Given the description of an element on the screen output the (x, y) to click on. 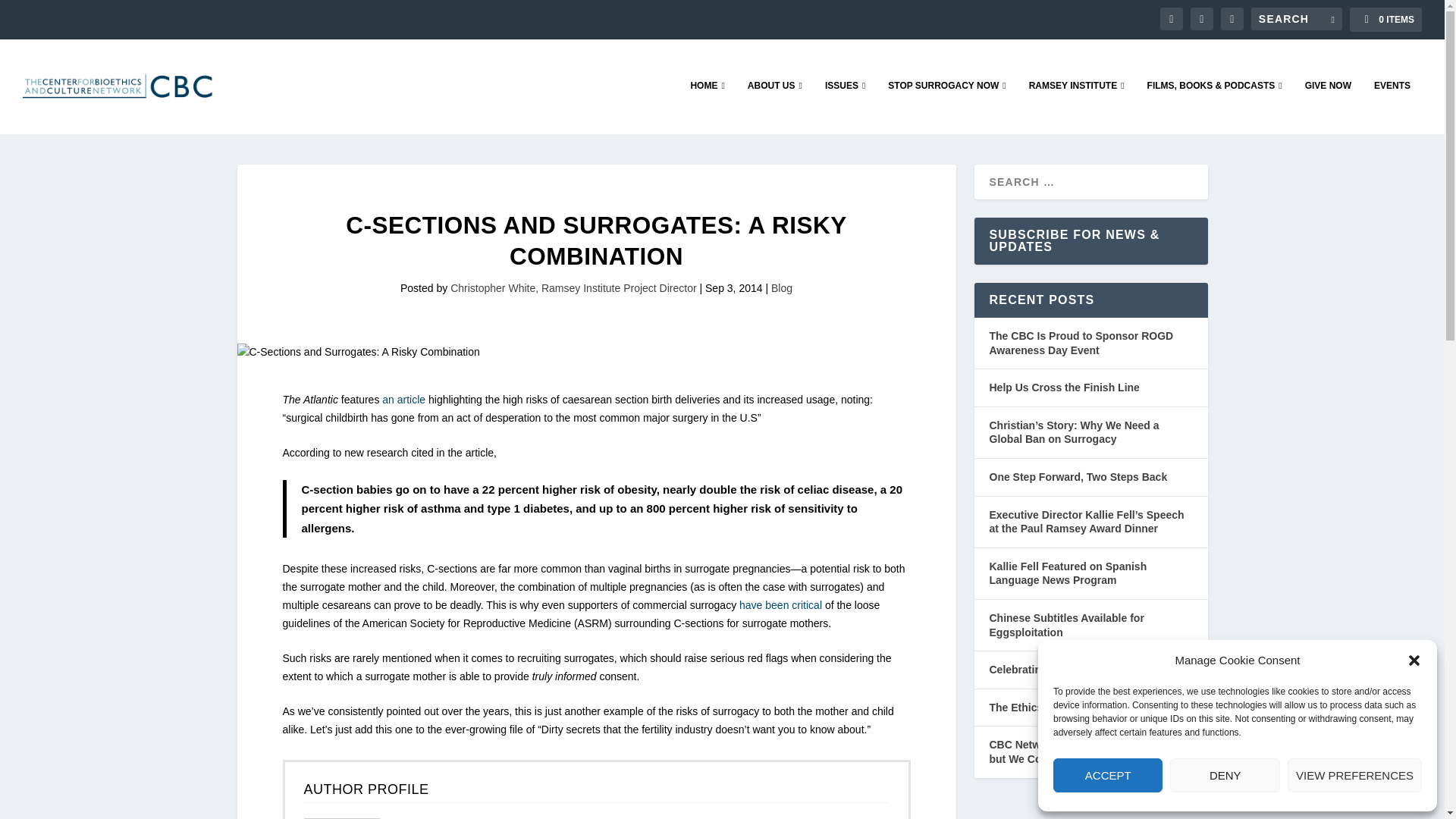
ACCEPT (1106, 775)
0 ITEMS (1385, 19)
Search for: (1296, 18)
ABOUT US (775, 106)
VIEW PREFERENCES (1354, 775)
DENY (1224, 775)
0 Items in Cart (1385, 19)
